Given the description of an element on the screen output the (x, y) to click on. 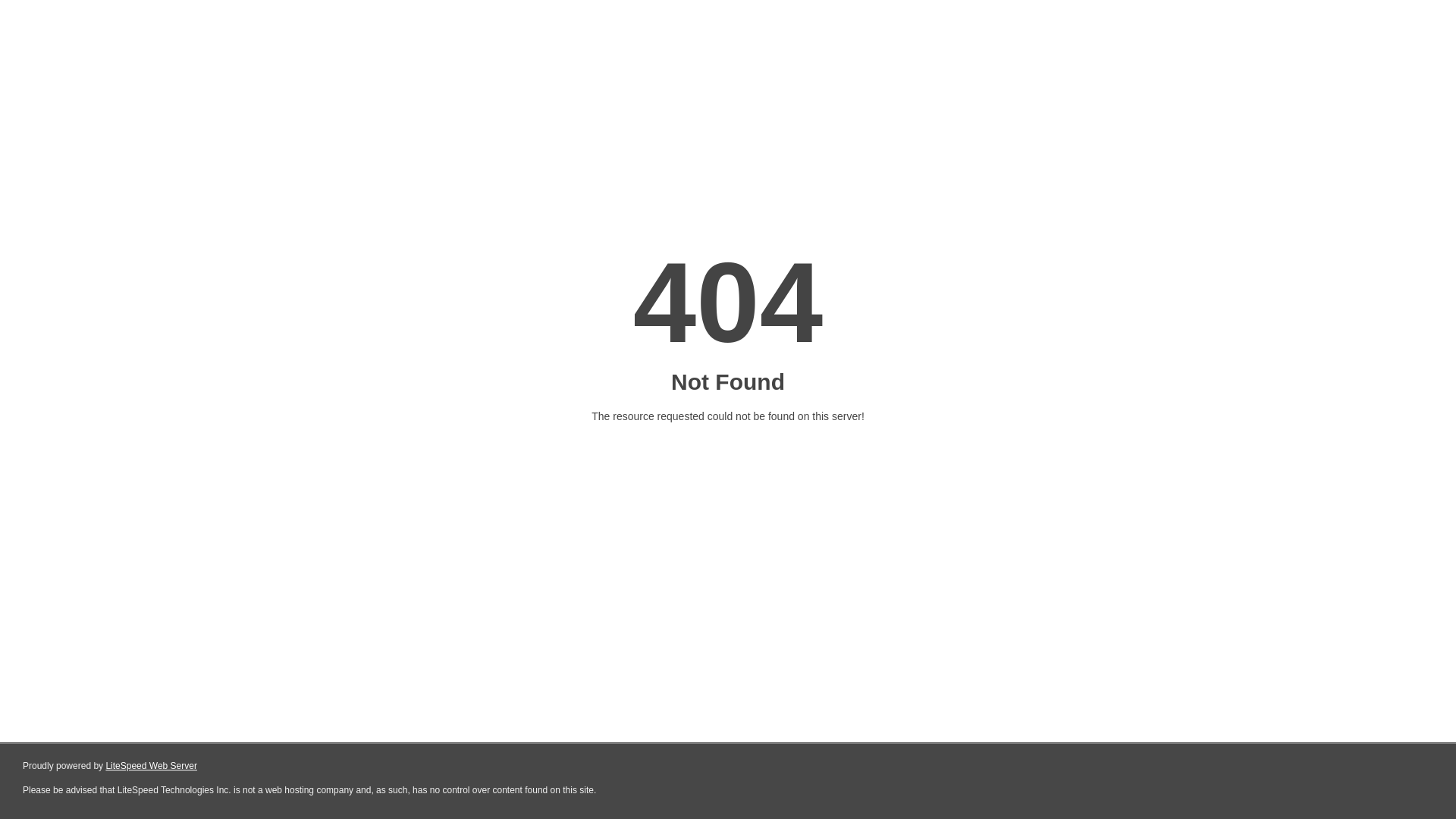
LiteSpeed Web Server Element type: text (151, 765)
